Given the description of an element on the screen output the (x, y) to click on. 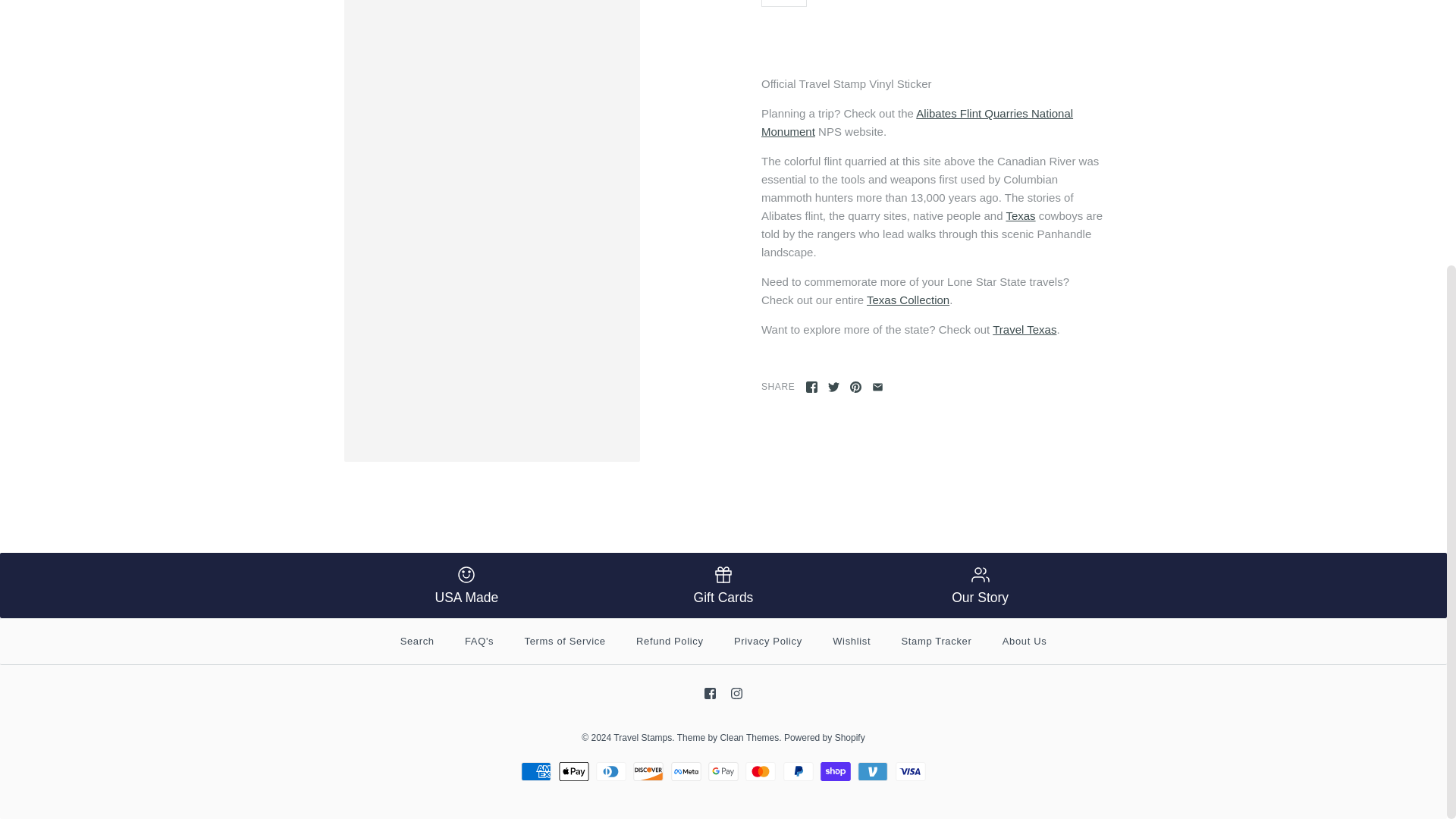
Email (877, 386)
Meta Pay (686, 771)
1 (783, 3)
Share using email (877, 386)
Pin the main image (855, 386)
Diners Club (610, 771)
Share on Facebook (811, 386)
Instagram (736, 693)
Pinterest (855, 386)
American Express (536, 771)
